Given the description of an element on the screen output the (x, y) to click on. 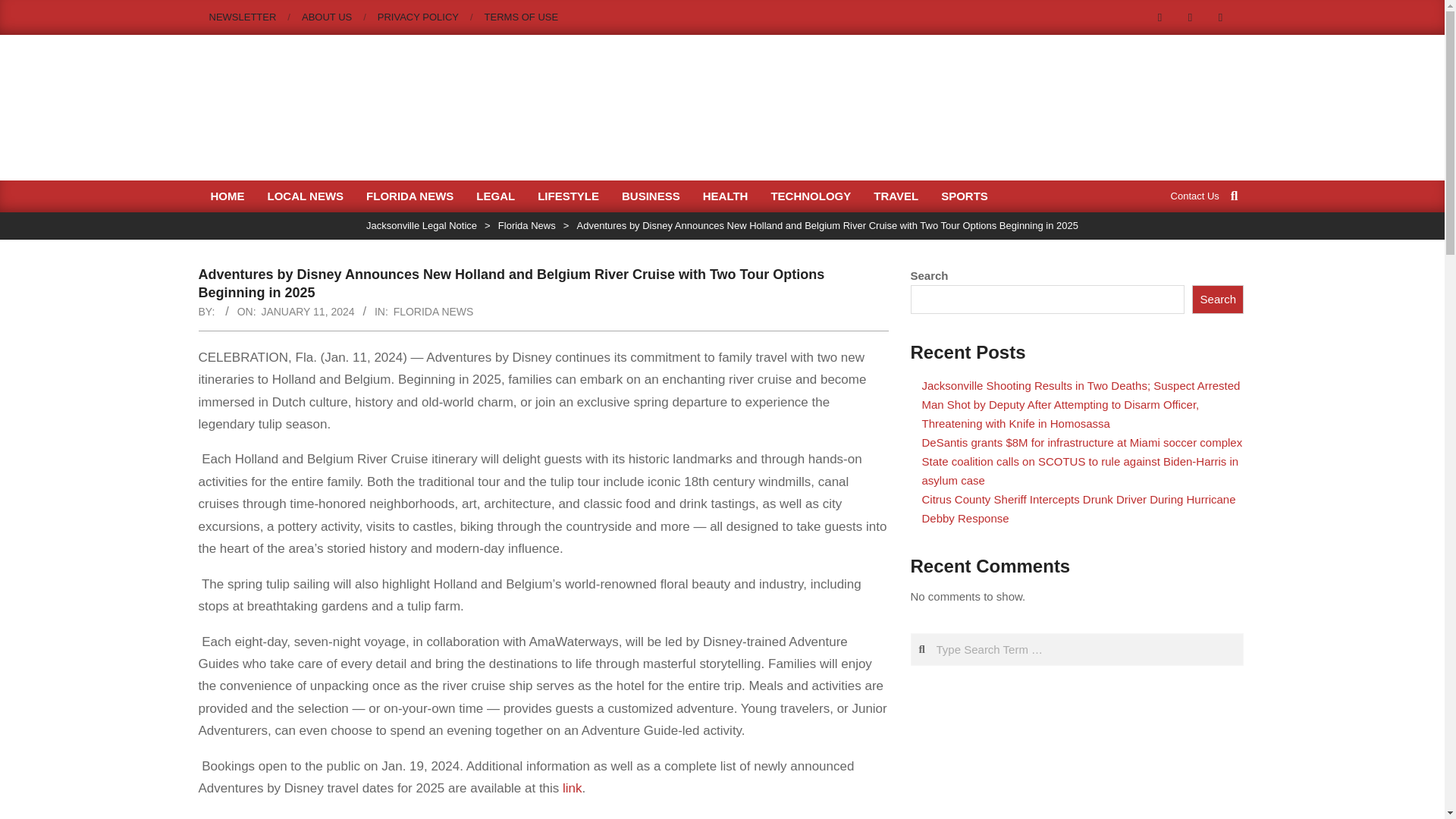
Go to the Florida News Category archives. (526, 225)
link (572, 788)
Jacksonville Legal Notice (421, 225)
PRIVACY POLICY (417, 16)
HEALTH (725, 196)
LIFESTYLE (567, 196)
Search (1217, 299)
FLORIDA NEWS (433, 311)
Contact Us (1195, 194)
